Given the description of an element on the screen output the (x, y) to click on. 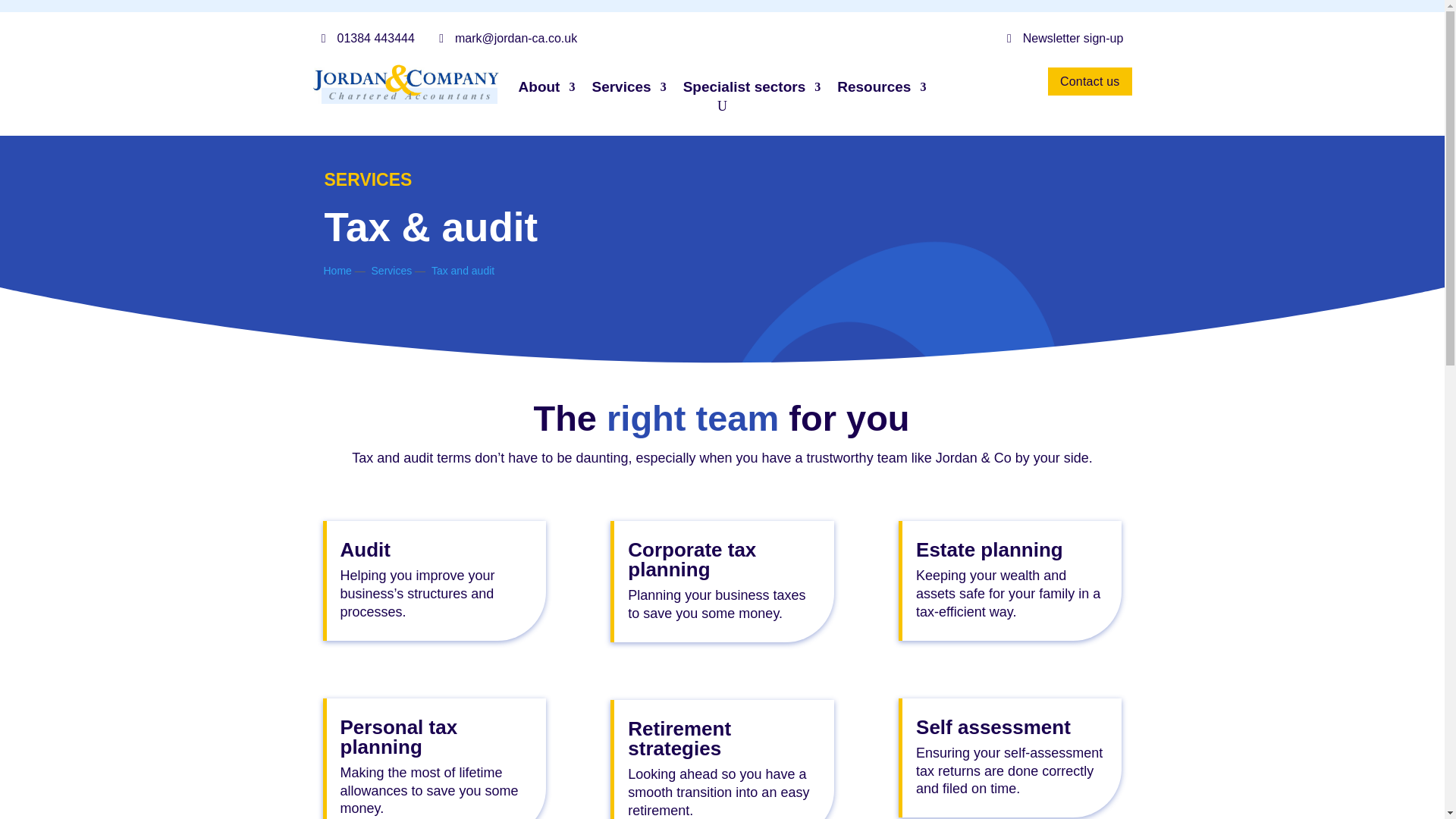
01384 443444 (368, 38)
